Given the description of an element on the screen output the (x, y) to click on. 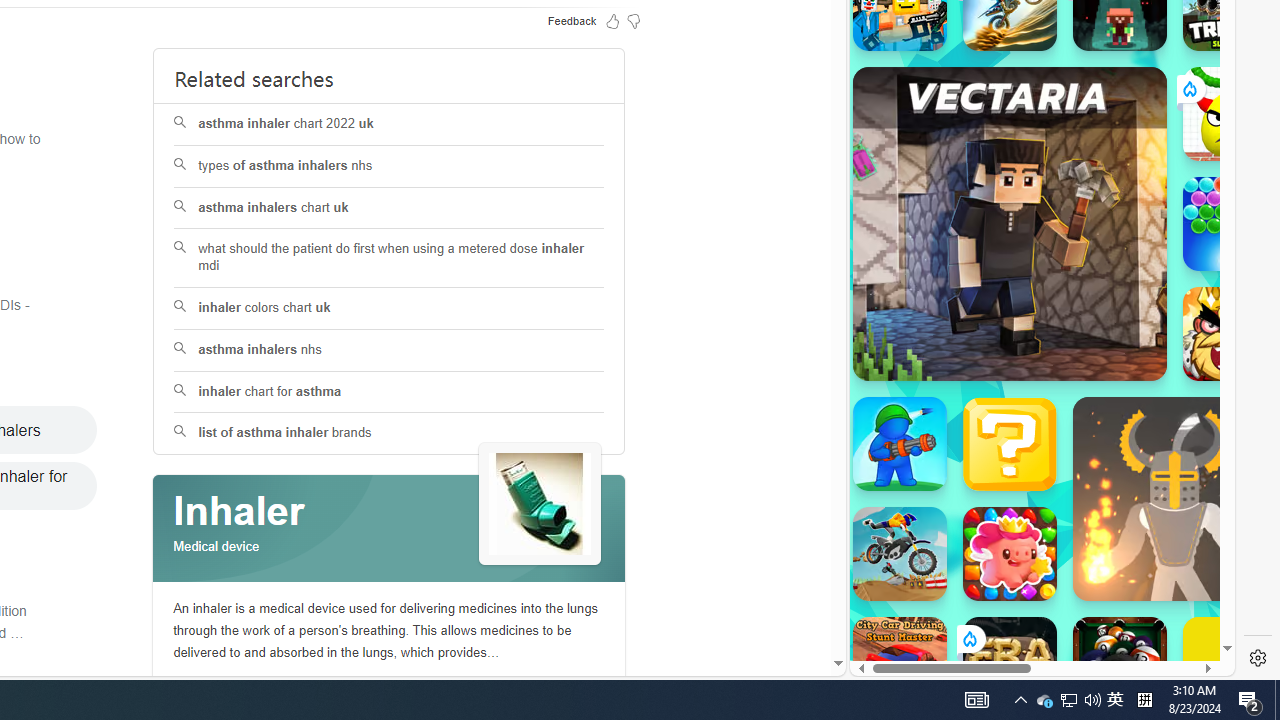
Hills of Steel (943, 300)
types of asthma inhalers nhs (388, 165)
Era: Evolution Era: Evolution (1009, 664)
asthma inhalers chart uk (388, 207)
AutomationID: mfa_root (762, 603)
Hills of Steel (943, 200)
asthma inhalers nhs (388, 349)
Crazy Bikes (899, 553)
Search results from poki.com (1005, 59)
poki.com (1092, 338)
list of asthma inhaler brands (389, 434)
Combat Reloaded (1092, 300)
Combat Reloaded (1092, 200)
